Given the description of an element on the screen output the (x, y) to click on. 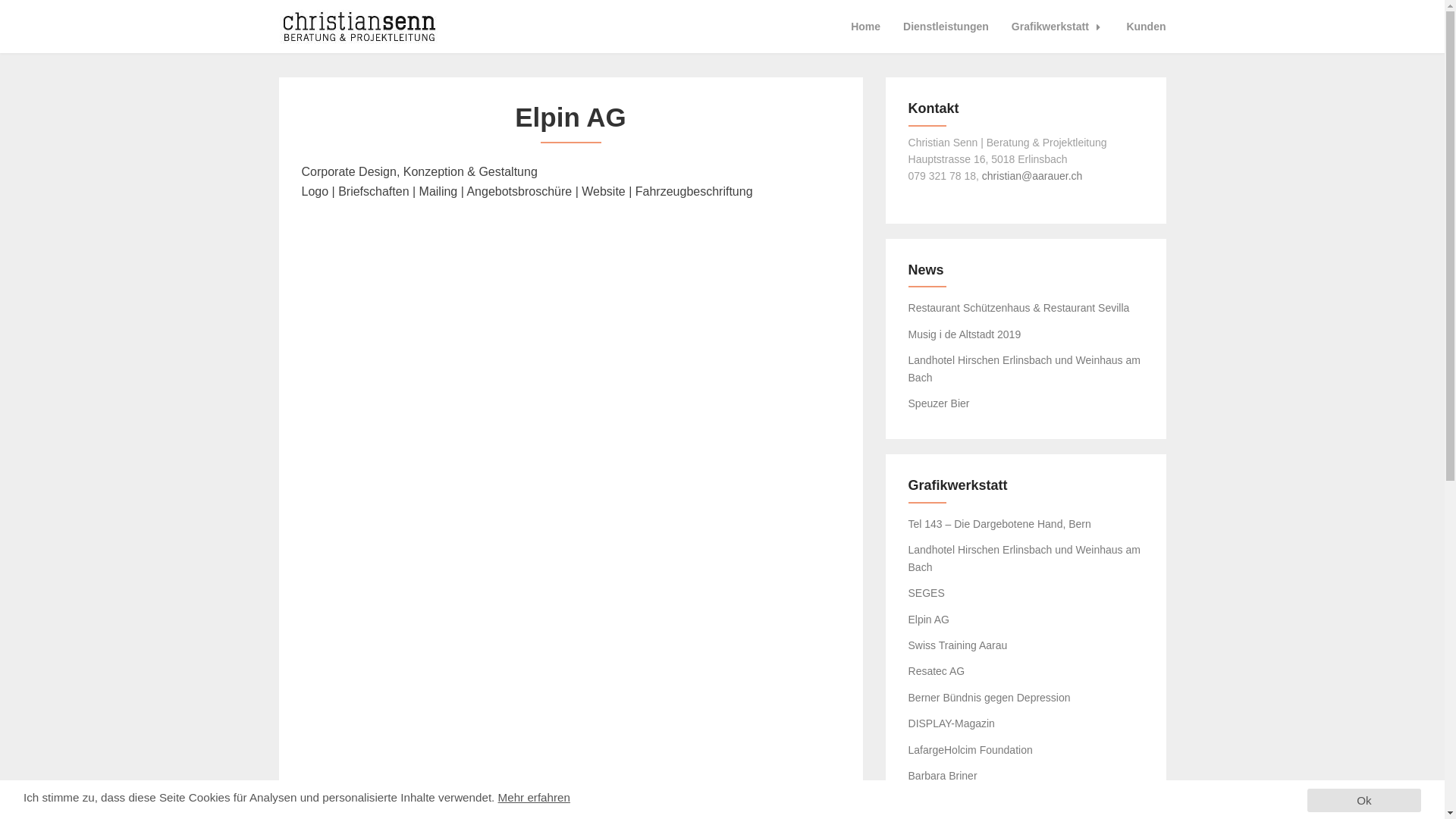
Elpin AG Element type: text (928, 619)
Visitenkarte Element type: hover (435, 521)
Barbara Briner Element type: text (942, 775)
Mailing (A5) Element type: hover (435, 627)
Corporate Design Element type: hover (435, 317)
Ok Element type: text (1364, 800)
Resatec AG Element type: text (936, 671)
Dienstleistungen Element type: text (945, 26)
DISPLAY-Magazin Element type: text (951, 723)
Kunden Element type: text (1145, 26)
Skip to content Element type: text (0, 0)
Logo Element type: hover (705, 317)
christian@aarauer.ch Element type: text (1032, 175)
LafargeHolcim Foundation Element type: text (970, 749)
Landhotel Hirschen Erlinsbach und Weinhaus am Bach Element type: text (1024, 368)
Logo Element type: hover (705, 219)
Grafikwerkstatt Element type: text (1057, 26)
Visitenkarte Element type: hover (435, 423)
SEGES Element type: text (926, 592)
Speuzer Bier Element type: text (938, 403)
Swiss Training Aarau Element type: text (957, 645)
Corporate Design Element type: hover (435, 219)
Home Element type: text (865, 26)
Musig i de Altstadt 2019 Element type: text (964, 334)
Fahrzeugbeschriftung Element type: hover (705, 627)
Landhotel Hirschen Erlinsbach und Weinhaus am Bach Element type: text (1024, 557)
Mehr erfahren Element type: text (534, 796)
